Given the description of an element on the screen output the (x, y) to click on. 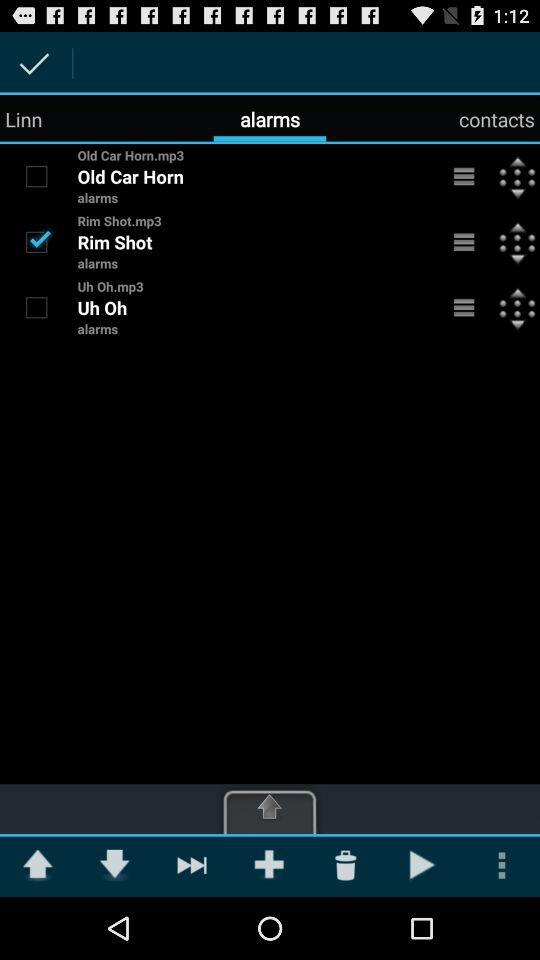
more options (463, 175)
